Given the description of an element on the screen output the (x, y) to click on. 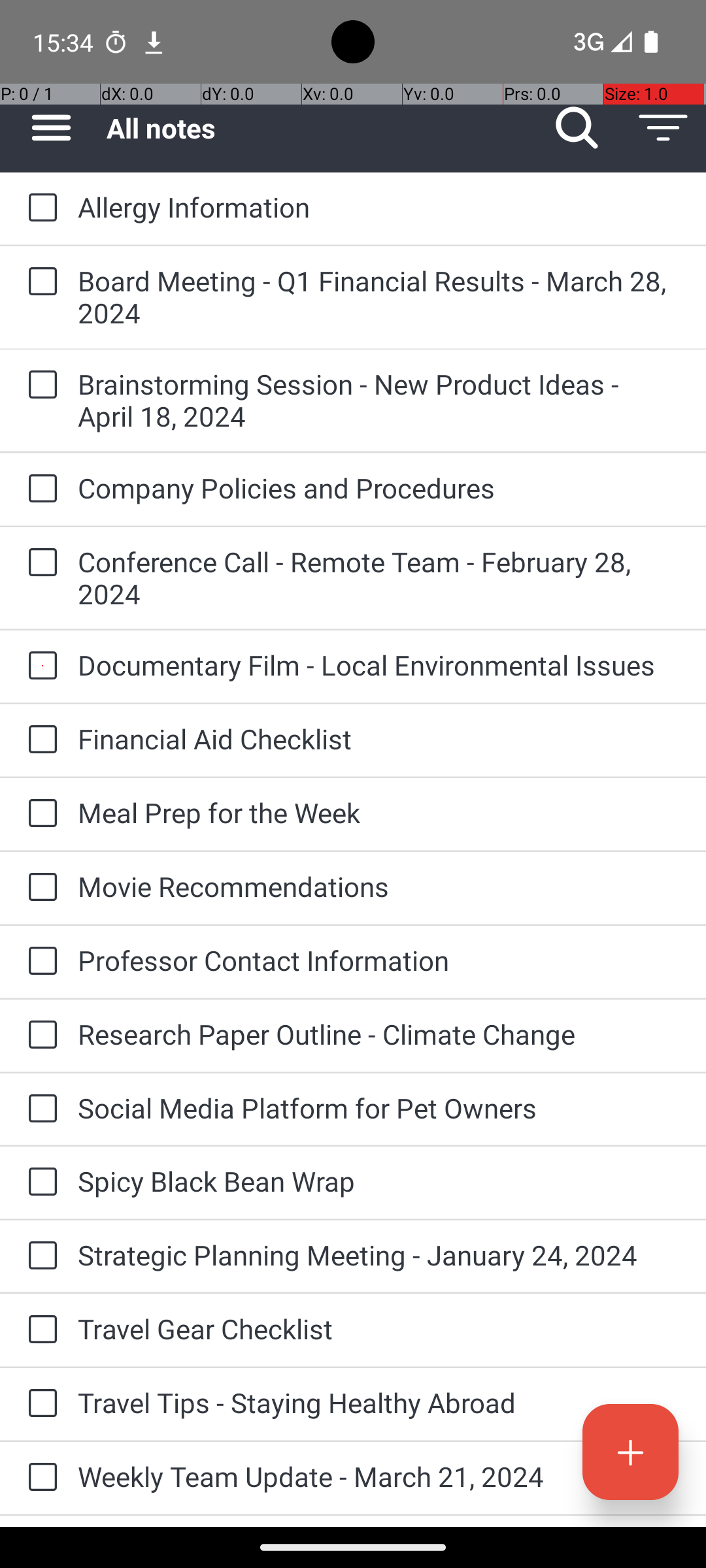
to-do: Allergy Information Element type: android.widget.CheckBox (38, 208)
to-do: Board Meeting - Q1 Financial Results - March 28, 2024 Element type: android.widget.CheckBox (38, 282)
Board Meeting - Q1 Financial Results - March 28, 2024 Element type: android.widget.TextView (378, 296)
to-do: Brainstorming Session - New Product Ideas - April 18, 2024 Element type: android.widget.CheckBox (38, 385)
Brainstorming Session - New Product Ideas - April 18, 2024 Element type: android.widget.TextView (378, 399)
to-do: Company Policies and Procedures Element type: android.widget.CheckBox (38, 489)
Company Policies and Procedures Element type: android.widget.TextView (378, 487)
to-do: Conference Call - Remote Team - February 28, 2024 Element type: android.widget.CheckBox (38, 563)
Conference Call - Remote Team - February 28, 2024 Element type: android.widget.TextView (378, 577)
to-do: Documentary Film - Local Environmental Issues Element type: android.widget.CheckBox (38, 666)
Documentary Film - Local Environmental Issues Element type: android.widget.TextView (378, 664)
to-do: Meal Prep for the Week Element type: android.widget.CheckBox (38, 814)
to-do: Professor Contact Information Element type: android.widget.CheckBox (38, 961)
Professor Contact Information Element type: android.widget.TextView (378, 959)
to-do: Research Paper Outline - Climate Change Element type: android.widget.CheckBox (38, 1035)
Research Paper Outline - Climate Change Element type: android.widget.TextView (378, 1033)
to-do: Social Media Platform for Pet Owners Element type: android.widget.CheckBox (38, 1109)
to-do: Spicy Black Bean Wrap Element type: android.widget.CheckBox (38, 1182)
Spicy Black Bean Wrap Element type: android.widget.TextView (378, 1180)
to-do: Strategic Planning Meeting - January 24, 2024 Element type: android.widget.CheckBox (38, 1256)
Strategic Planning Meeting - January 24, 2024 Element type: android.widget.TextView (378, 1254)
to-do: Travel Gear Checklist Element type: android.widget.CheckBox (38, 1330)
Travel Gear Checklist Element type: android.widget.TextView (378, 1328)
to-do: Travel Tips - Staying Healthy Abroad Element type: android.widget.CheckBox (38, 1404)
Travel Tips - Staying Healthy Abroad Element type: android.widget.TextView (378, 1402)
to-do: Weekly Team Update - March 21, 2024 Element type: android.widget.CheckBox (38, 1477)
Weekly Team Update - March 21, 2024 Element type: android.widget.TextView (378, 1475)
to-do: Workout Routine Element type: android.widget.CheckBox (38, 1520)
